Given the description of an element on the screen output the (x, y) to click on. 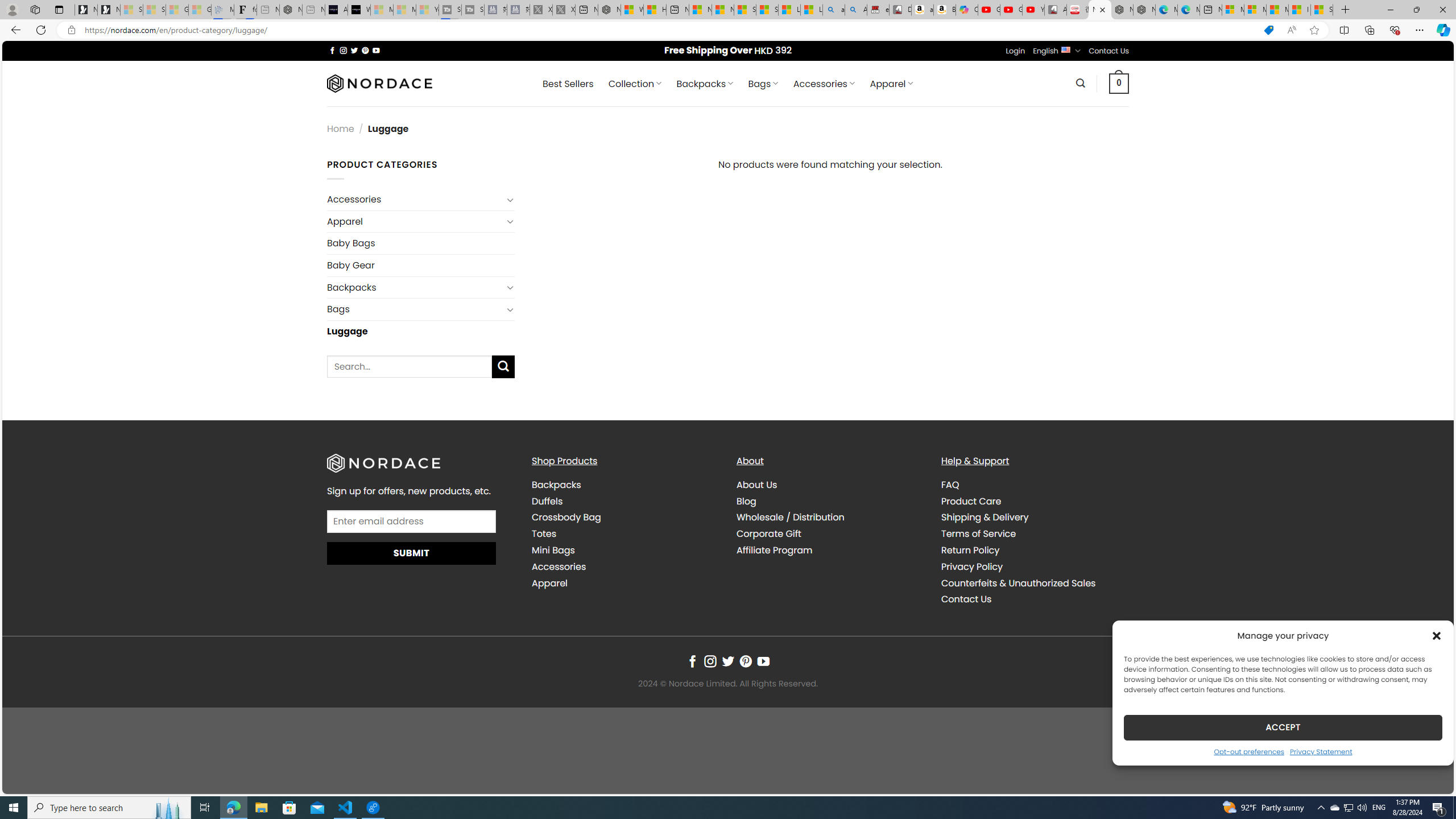
Microsoft Start - Sleeping (404, 9)
FAQ (949, 484)
Shipping & Delivery (1034, 517)
Crossbody Bag (566, 517)
 Best Sellers (568, 83)
